Given the description of an element on the screen output the (x, y) to click on. 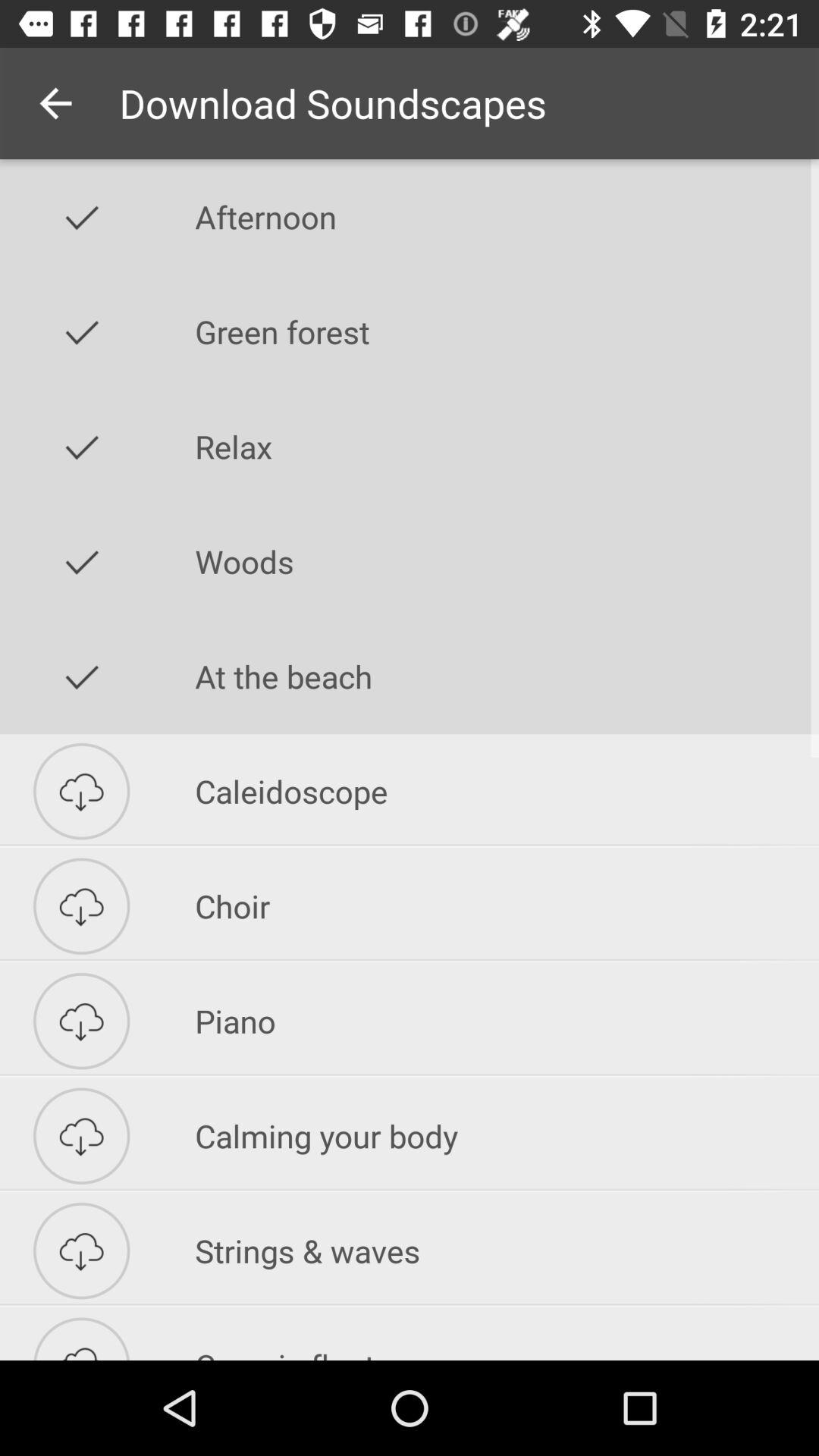
click icon above the calming your body icon (507, 1020)
